Given the description of an element on the screen output the (x, y) to click on. 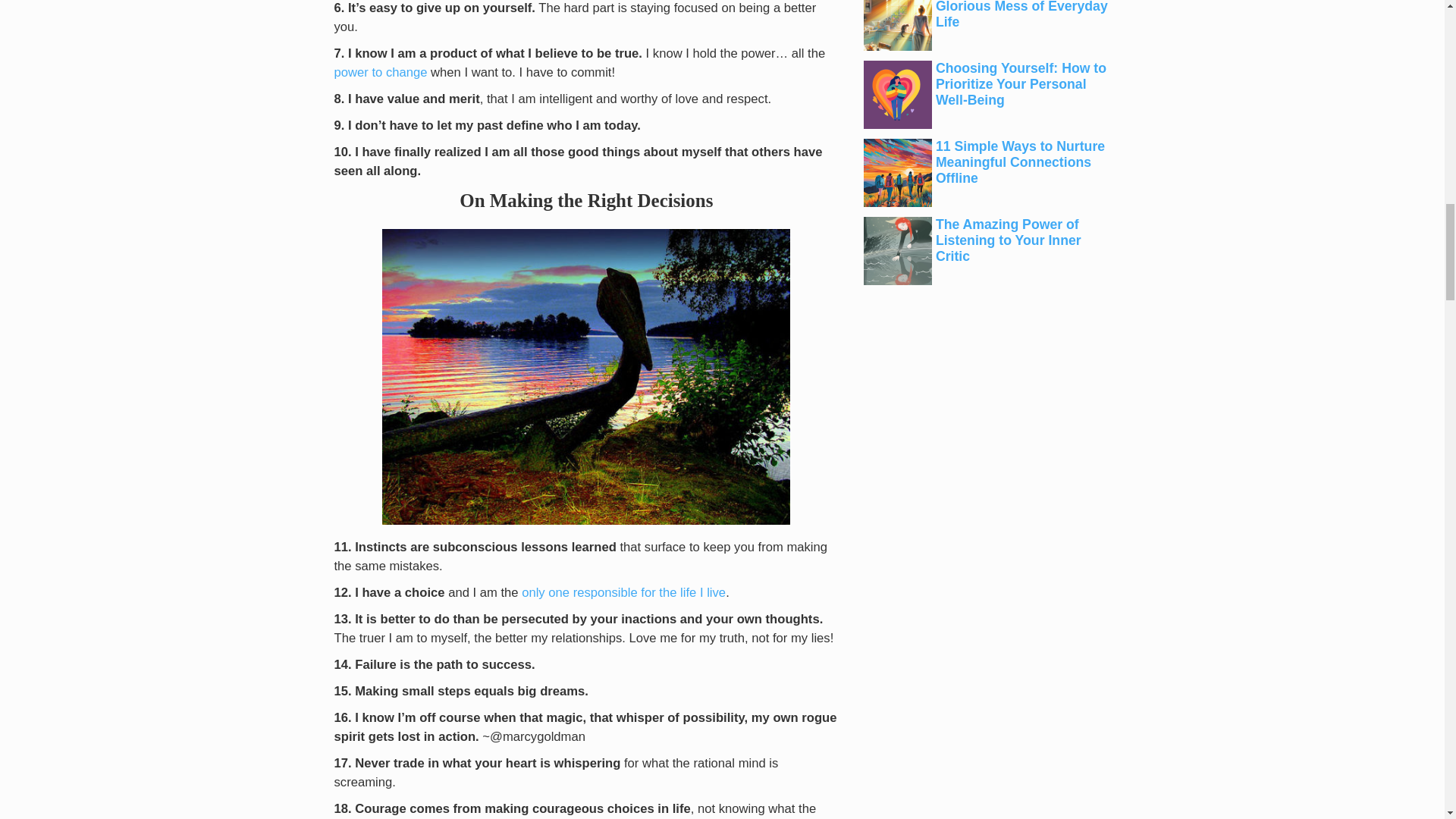
power to change (379, 72)
only one responsible for the life I live (623, 592)
Tiny Wisdom: It's You (623, 592)
Wisdom (585, 376)
We Have the Power to Choose (379, 72)
